Given the description of an element on the screen output the (x, y) to click on. 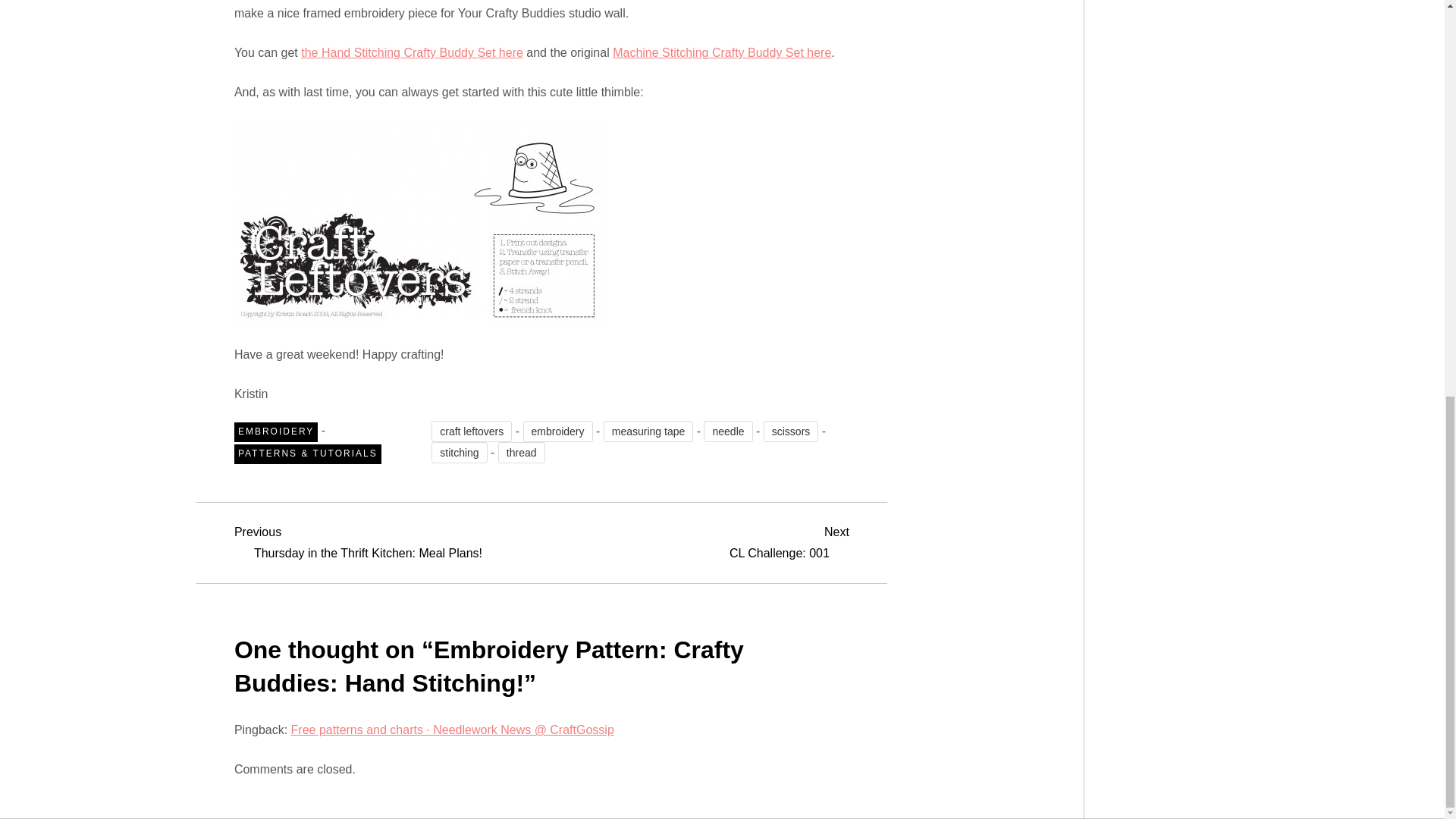
scissors (790, 431)
craft leftovers (471, 431)
measuring tape (649, 431)
thread (520, 452)
craftybuddyfreebie (419, 223)
Machine Stitching Crafty Buddy Set here (721, 51)
embroidery (694, 540)
EMBROIDERY (557, 431)
stitching (275, 432)
needle (458, 452)
the Hand Stitching Crafty Buddy Set here (727, 431)
